Given the description of an element on the screen output the (x, y) to click on. 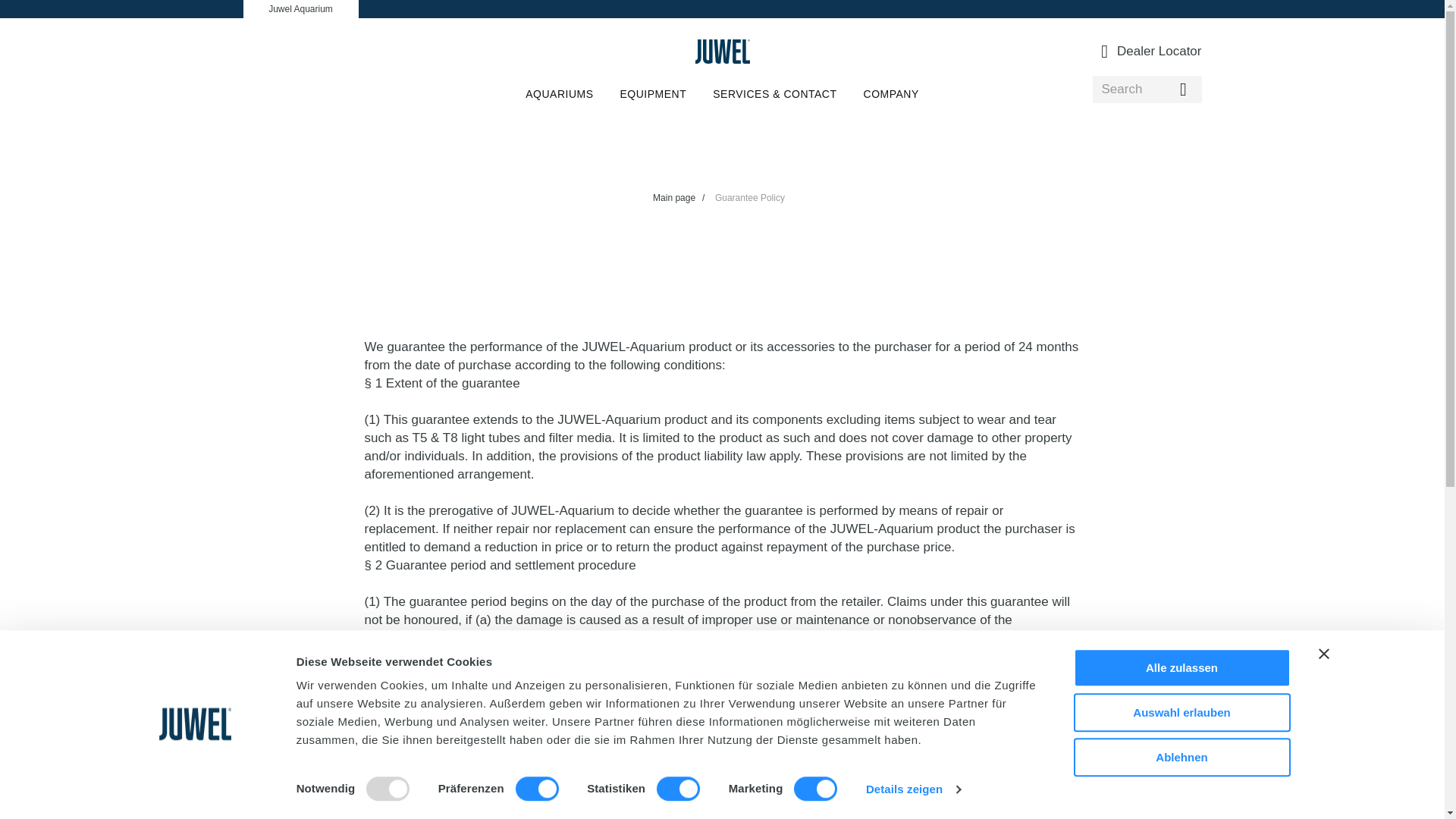
Alle zulassen (1182, 667)
Auswahl erlauben (1182, 712)
Dealer Locator (1150, 51)
Details zeigen (913, 789)
Ablehnen (1182, 756)
AQUARIUMS (558, 93)
Juwel Aquarium (300, 9)
